Given the description of an element on the screen output the (x, y) to click on. 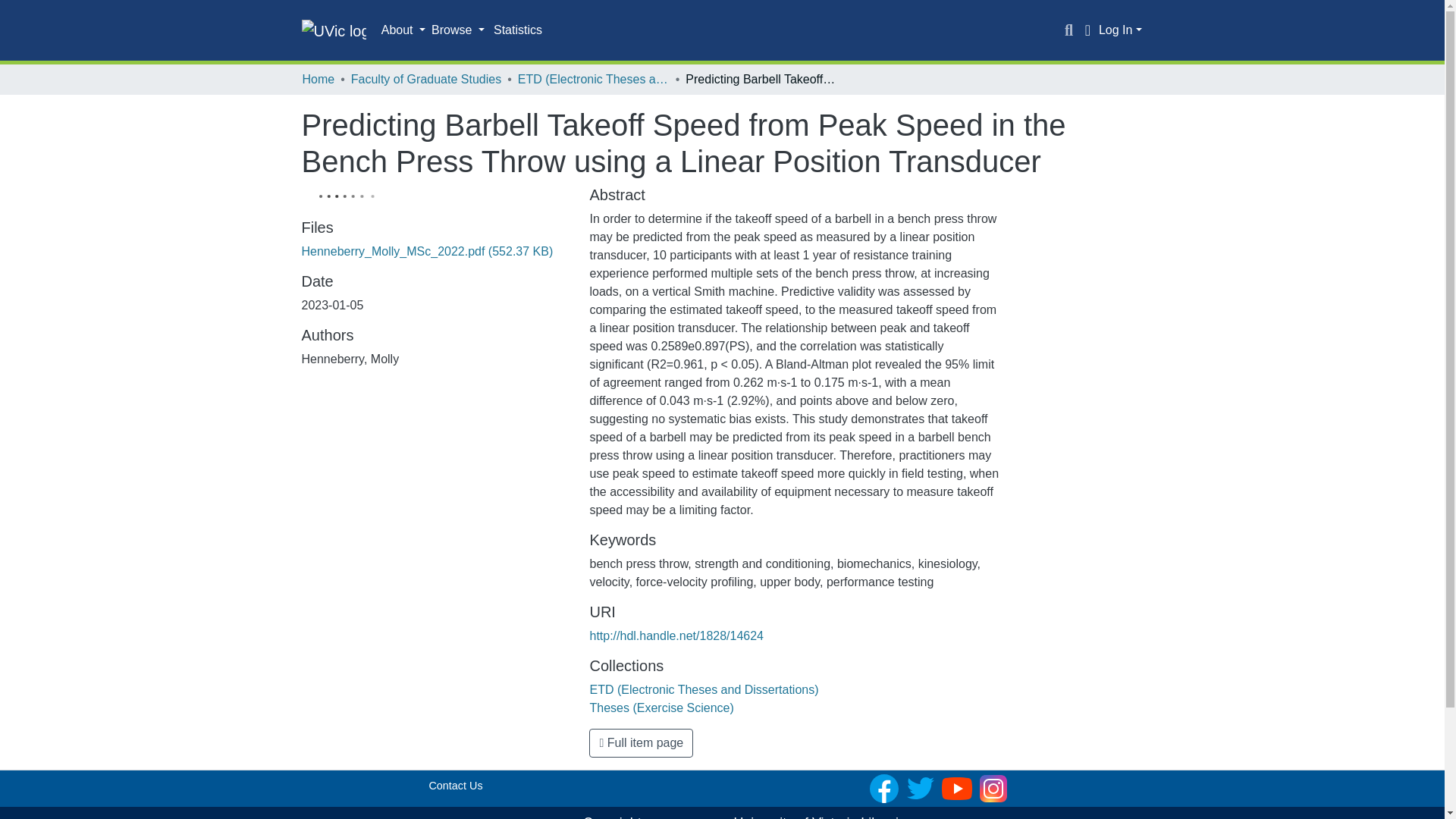
Faculty of Graduate Studies (425, 79)
Browse (457, 30)
Statistics (517, 30)
Log In (1119, 29)
About (403, 30)
Language switch (1087, 30)
Contact Us (454, 785)
Full item page (641, 742)
Home (317, 79)
Search (1068, 30)
